Given the description of an element on the screen output the (x, y) to click on. 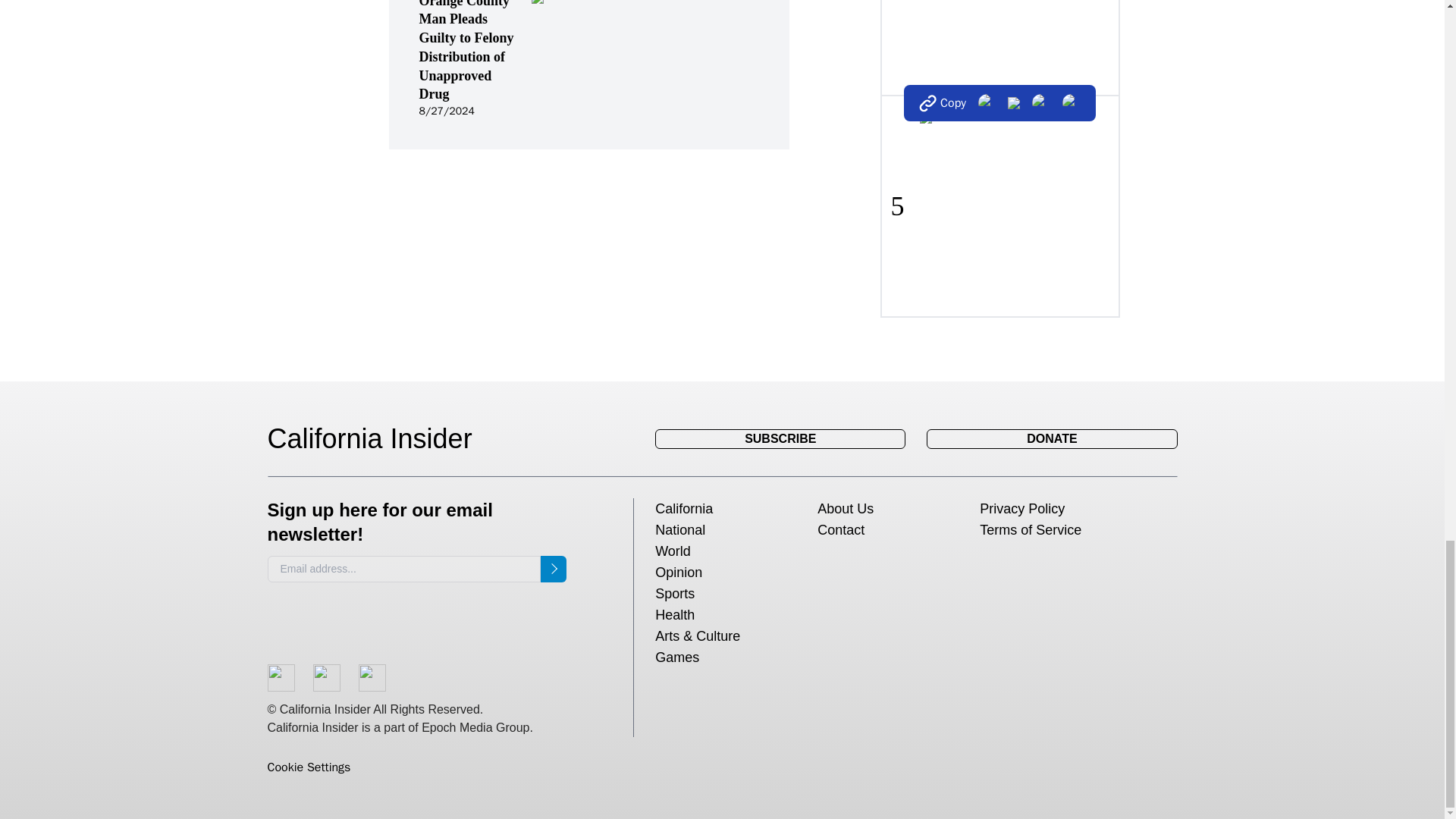
California (684, 508)
4 (999, 47)
California Insider (380, 439)
Opinion (678, 572)
Sports (674, 593)
Health (674, 614)
DONATE (1051, 438)
SUBSCRIBE (780, 438)
World (672, 550)
